Given the description of an element on the screen output the (x, y) to click on. 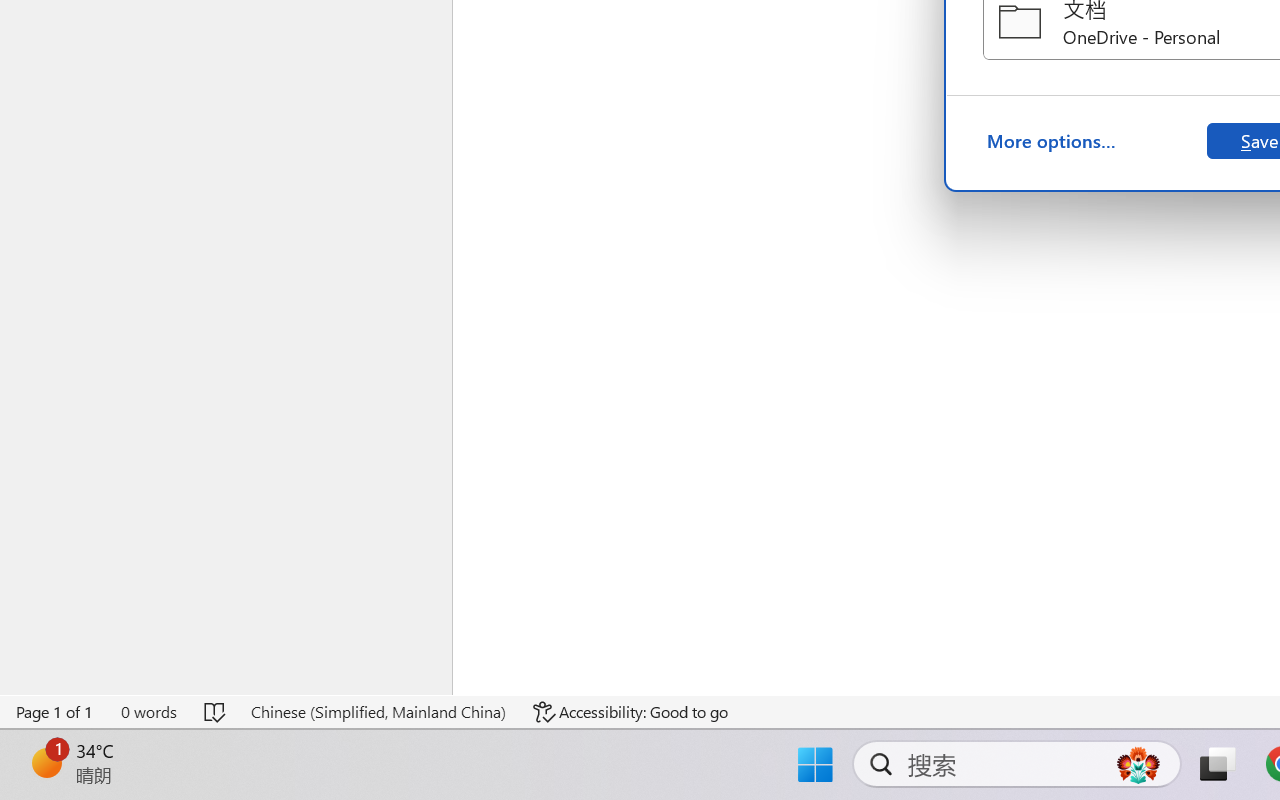
Language Chinese (Simplified, Mainland China) (378, 712)
